Given the description of an element on the screen output the (x, y) to click on. 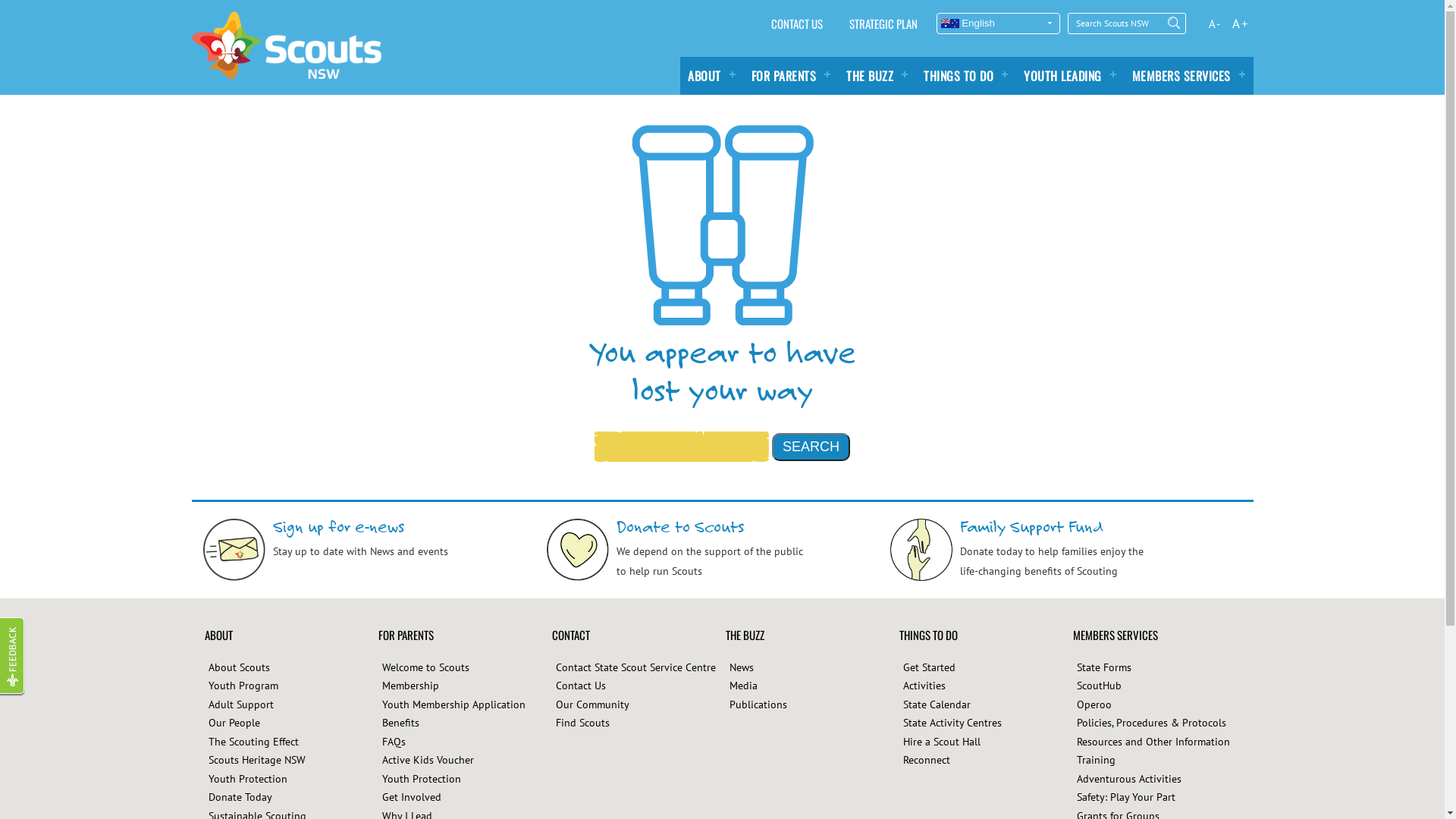
YOUTH LEADING Element type: text (1070, 75)
Find Scouts Element type: text (581, 722)
Our Community Element type: text (591, 704)
About Scouts Element type: text (238, 667)
Youth Protection Element type: text (246, 778)
Youth Protection Element type: text (421, 778)
Resources and Other Information Element type: text (1153, 741)
Operoo Element type: text (1093, 704)
English Element type: text (997, 23)
Publications Element type: text (758, 704)
Family Support Fund Element type: text (1032, 526)
THE BUZZ Element type: text (877, 75)
Our People Element type: text (233, 722)
State Forms Element type: text (1103, 667)
Get Started Element type: text (928, 667)
Policies, Procedures & Protocols Element type: text (1151, 722)
Reconnect Element type: text (925, 759)
Donate to Scouts Element type: text (679, 526)
Welcome to Scouts Element type: text (425, 667)
Youth Membership Application Element type: text (453, 704)
State Activity Centres Element type: text (951, 722)
A- Element type: text (1214, 22)
Safety: Play Your Part Element type: text (1125, 796)
Active Kids Voucher Element type: text (427, 759)
MEMBERS SERVICES Element type: text (1187, 75)
Get Involved Element type: text (411, 796)
Donate Today Element type: text (239, 796)
Adult Support Element type: text (240, 704)
Youth Program Element type: text (242, 685)
THINGS TO DO Element type: text (966, 75)
Adventurous Activities Element type: text (1128, 778)
A+ Element type: text (1240, 21)
Benefits Element type: text (400, 722)
Sign up for e-news Element type: text (338, 526)
Search Element type: text (810, 447)
Hire a Scout Hall Element type: text (940, 741)
The Scouting Effect Element type: text (252, 741)
ABOUT Element type: text (711, 75)
Activities Element type: text (923, 685)
ScoutHub Element type: text (1098, 685)
Contact Us Element type: text (580, 685)
Media Element type: text (743, 685)
Contact State Scout Service Centre Element type: text (635, 667)
FAQs Element type: text (393, 741)
News Element type: text (741, 667)
State Calendar Element type: text (935, 704)
Membership Element type: text (410, 685)
FOR PARENTS Element type: text (790, 75)
Scouts Heritage NSW Element type: text (255, 759)
Training Element type: text (1095, 759)
